Given the description of an element on the screen output the (x, y) to click on. 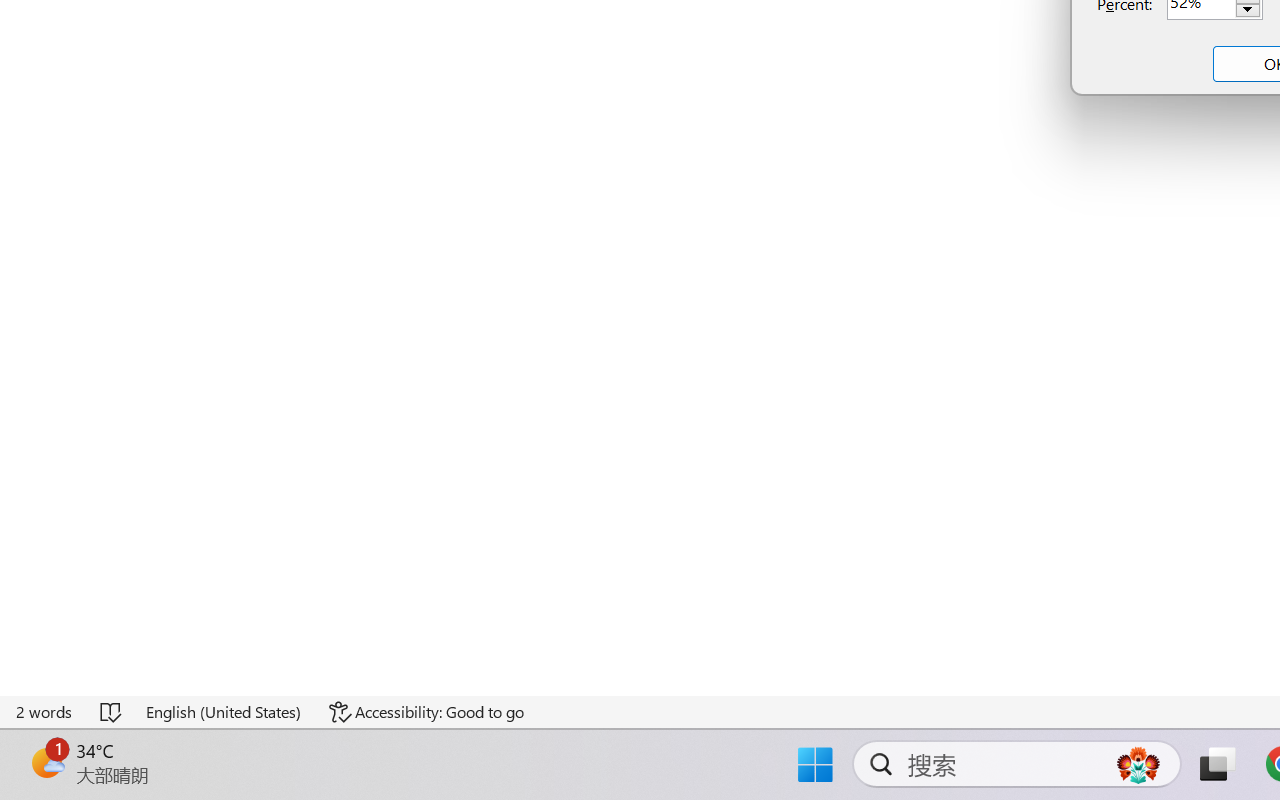
Accessibility Checker Accessibility: Good to go (426, 712)
AutomationID: DynamicSearchBoxGleamImage (1138, 764)
Word Count 2 words (45, 712)
Language English (United States) (224, 712)
Spelling and Grammar Check No Errors (112, 712)
AutomationID: BadgeAnchorLargeTicker (46, 762)
